Given the description of an element on the screen output the (x, y) to click on. 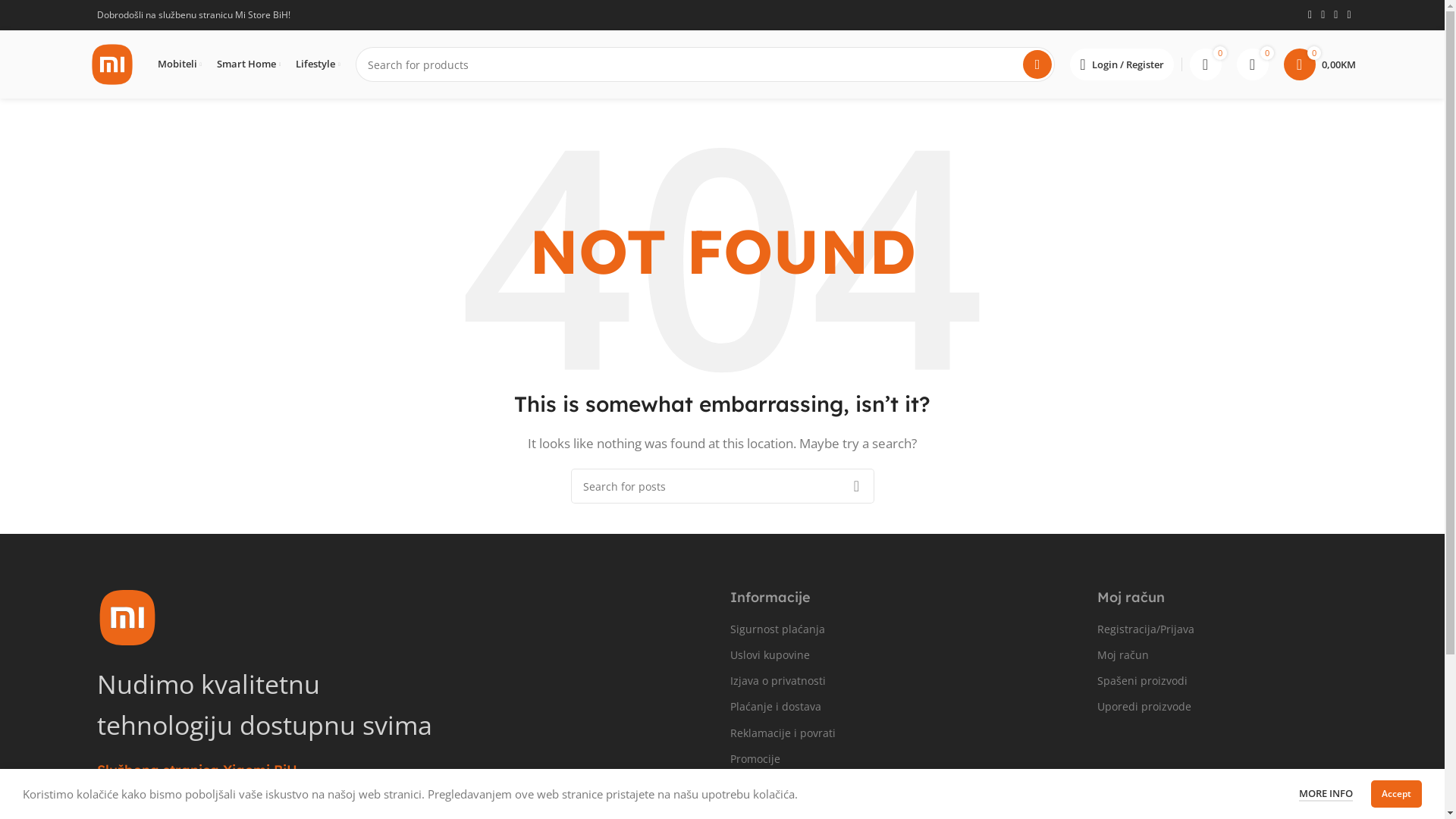
Izjava o privatnosti Element type: text (880, 680)
Mobiteli Element type: text (179, 64)
Promocije Element type: text (880, 758)
Registracija/Prijava Element type: text (1197, 629)
Search Element type: text (1036, 64)
O Nama Element type: text (880, 784)
Login / Register Element type: text (1121, 64)
Smart Home Element type: text (248, 64)
Uporedi proizvode Element type: text (1197, 706)
Search for products Element type: hover (705, 64)
MORE INFO Element type: text (1325, 793)
0
0,00KM Element type: text (1318, 64)
0 Element type: text (1204, 64)
Accept Element type: text (1396, 793)
Lifestyle Element type: text (317, 64)
Reklamacije i povrati Element type: text (880, 733)
Search for posts Element type: hover (721, 485)
0 Element type: text (1251, 64)
Search Element type: text (855, 485)
mi-store-bih-logo Element type: hover (127, 616)
Uslovi kupovine Element type: text (880, 655)
Log in Element type: text (1047, 309)
